Given the description of an element on the screen output the (x, y) to click on. 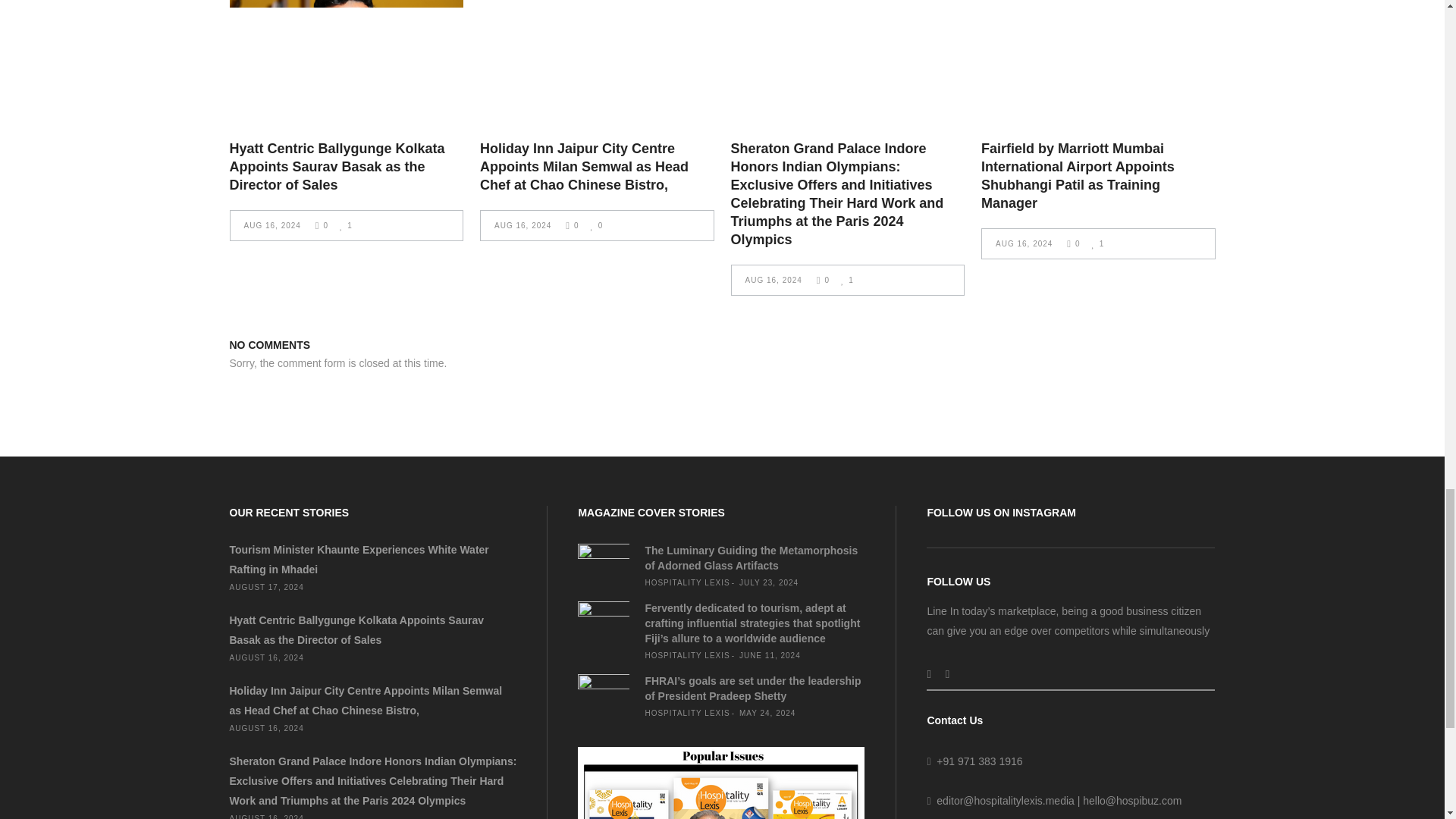
Like this (595, 225)
Like this (345, 225)
